Given the description of an element on the screen output the (x, y) to click on. 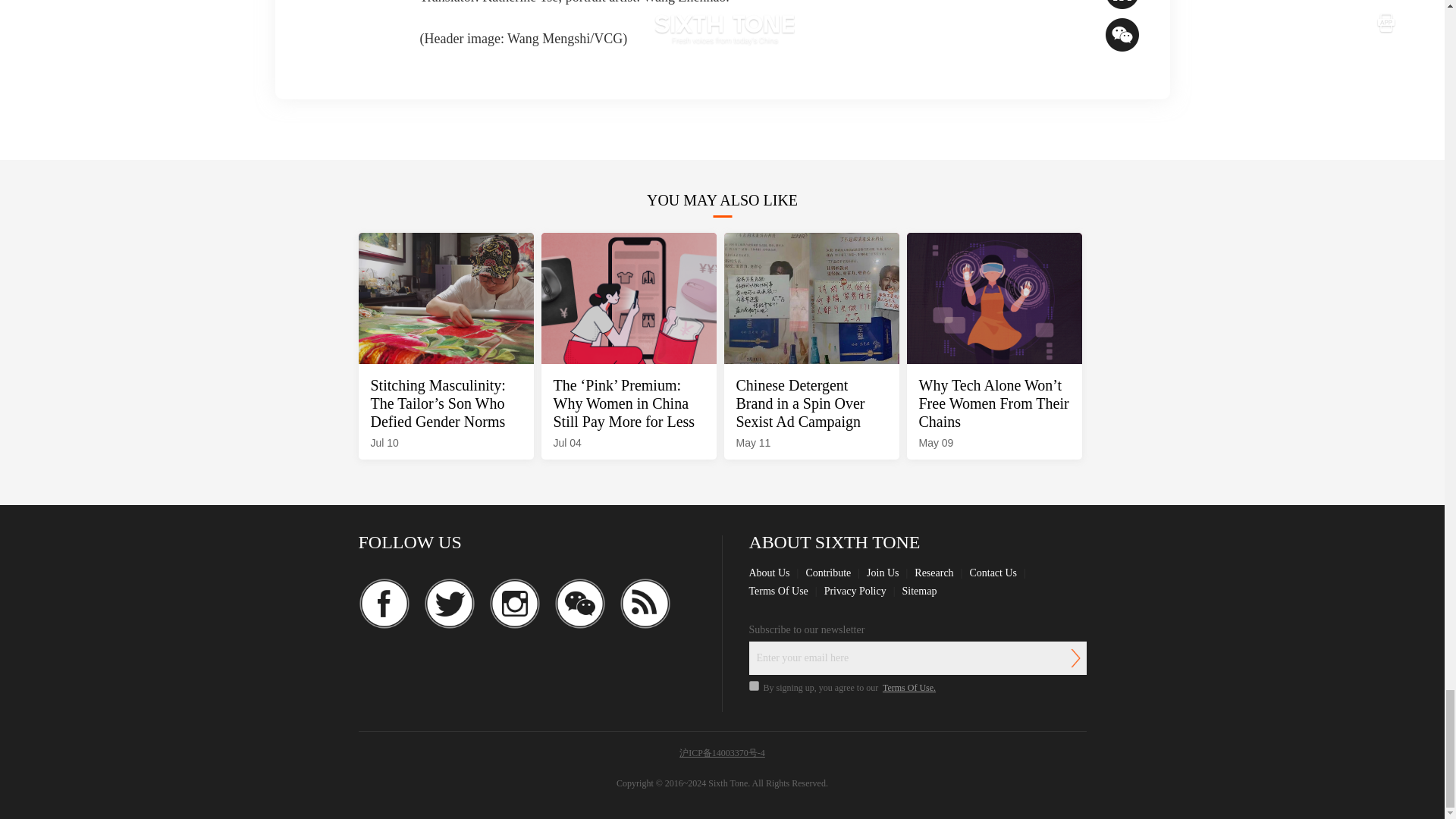
Join Us (882, 572)
Research (933, 572)
on (753, 685)
Contribute (827, 572)
About Us (769, 572)
